Given the description of an element on the screen output the (x, y) to click on. 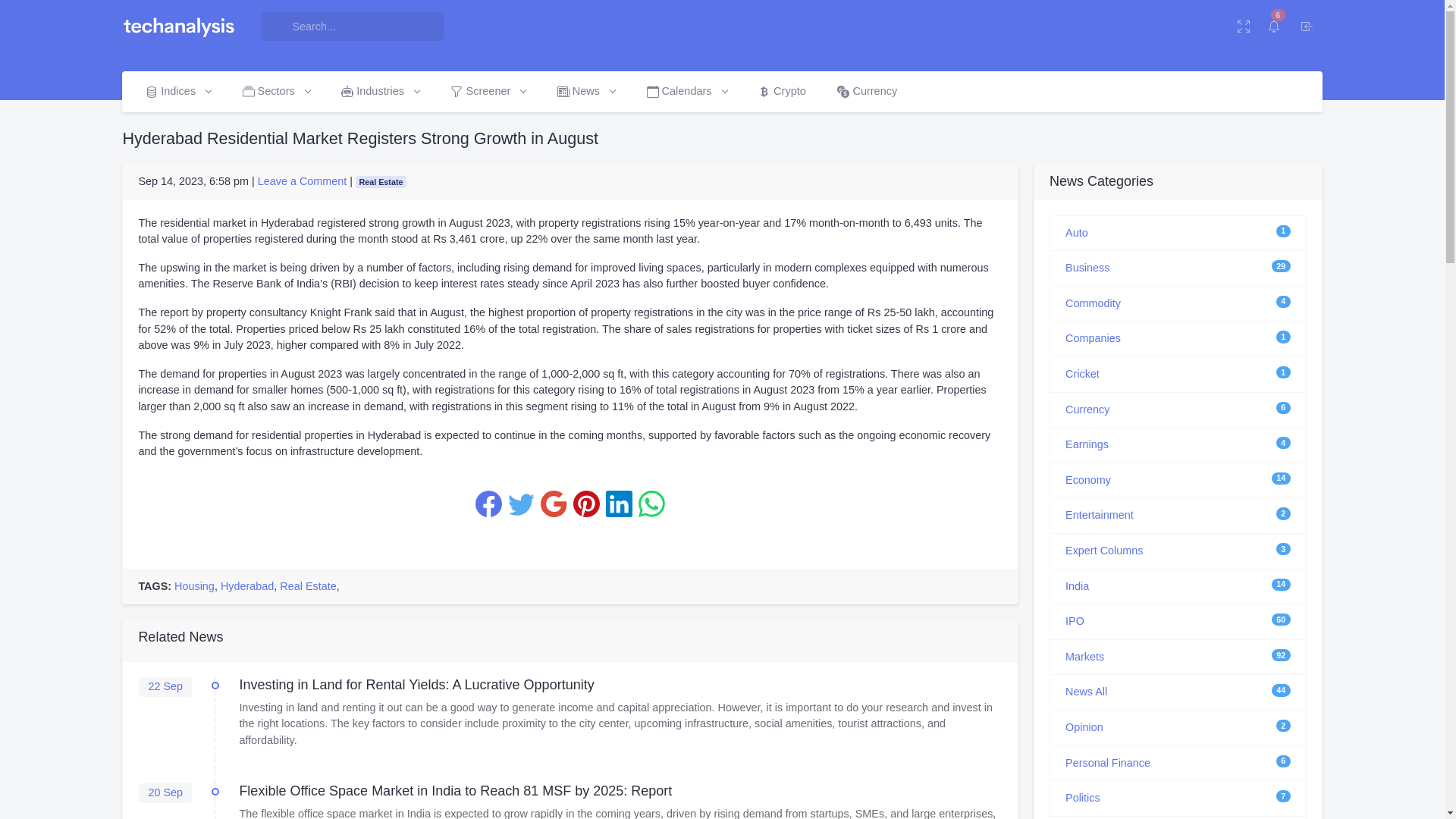
Auto (1076, 232)
Markets (1084, 656)
Companies (1093, 337)
Economy (1087, 480)
Business (1087, 267)
Commodity (1093, 303)
India (1077, 585)
News All (1085, 691)
Cricket (1082, 373)
Opinion (1084, 727)
